Given the description of an element on the screen output the (x, y) to click on. 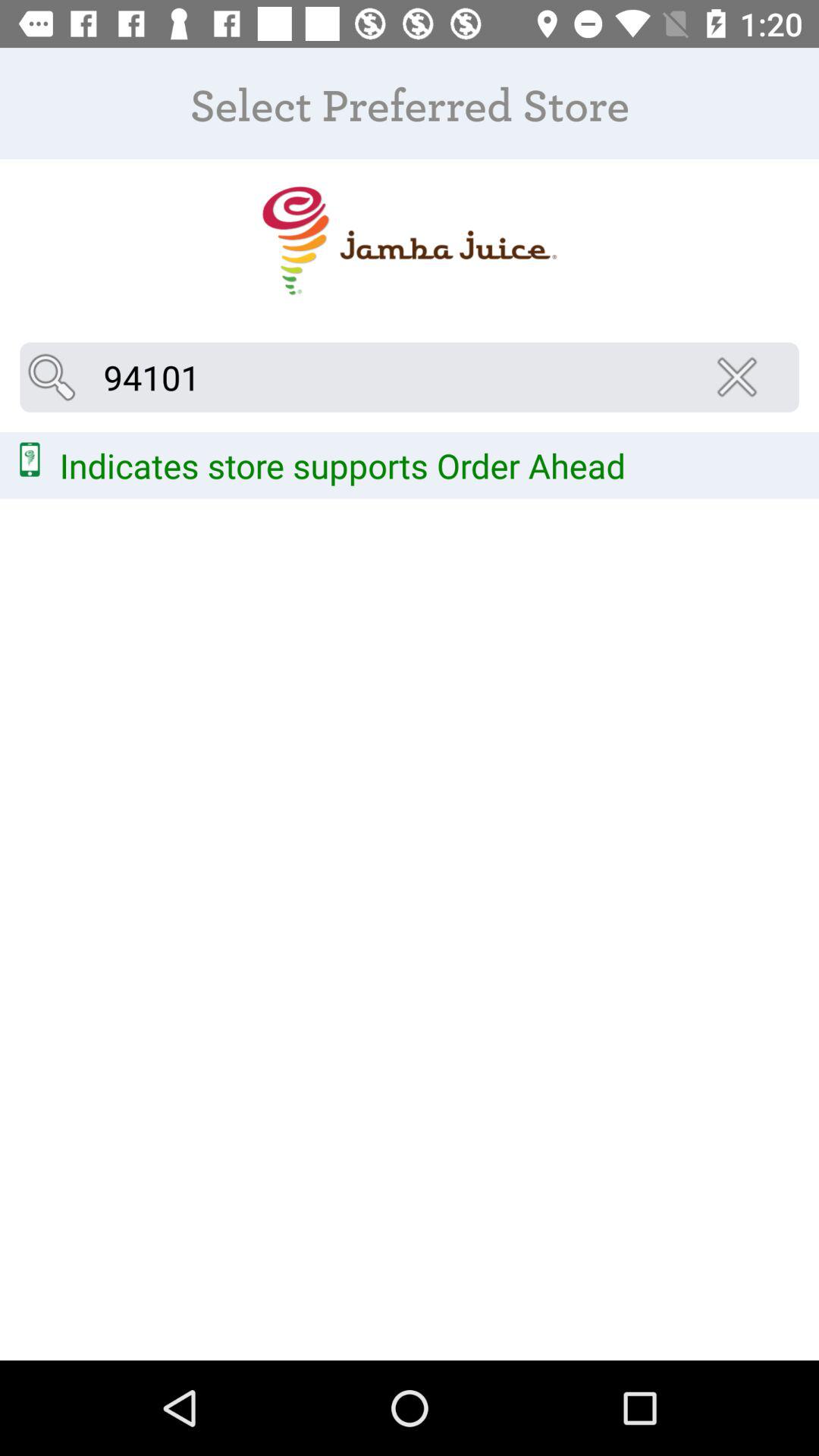
choose icon at the top right corner (742, 376)
